Given the description of an element on the screen output the (x, y) to click on. 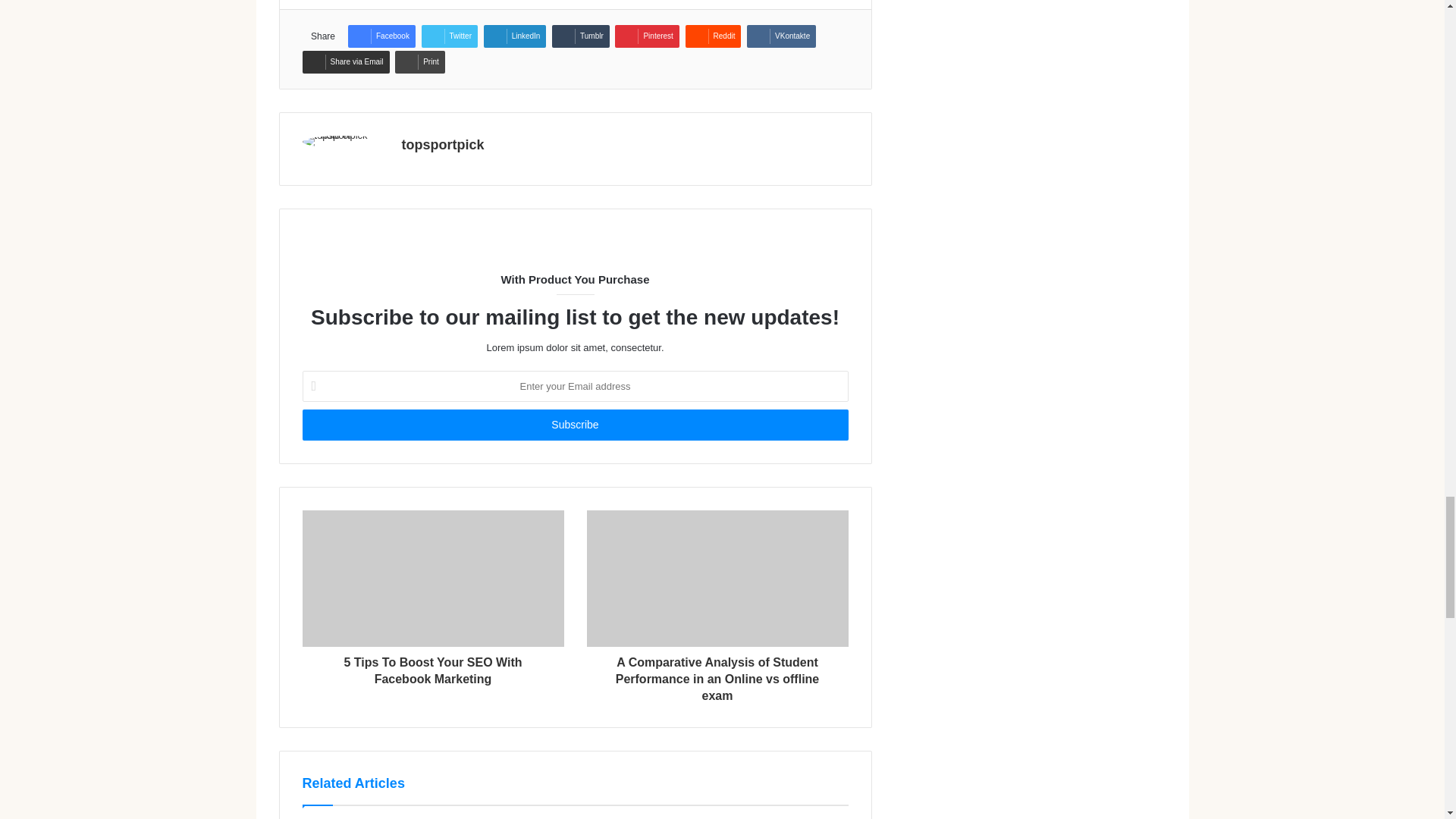
Print (419, 61)
Twitter (449, 36)
Tumblr (580, 36)
Subscribe (574, 424)
Reddit (713, 36)
Share via Email (344, 61)
Pinterest (646, 36)
VKontakte (780, 36)
Facebook (380, 36)
Facebook (380, 36)
